Given the description of an element on the screen output the (x, y) to click on. 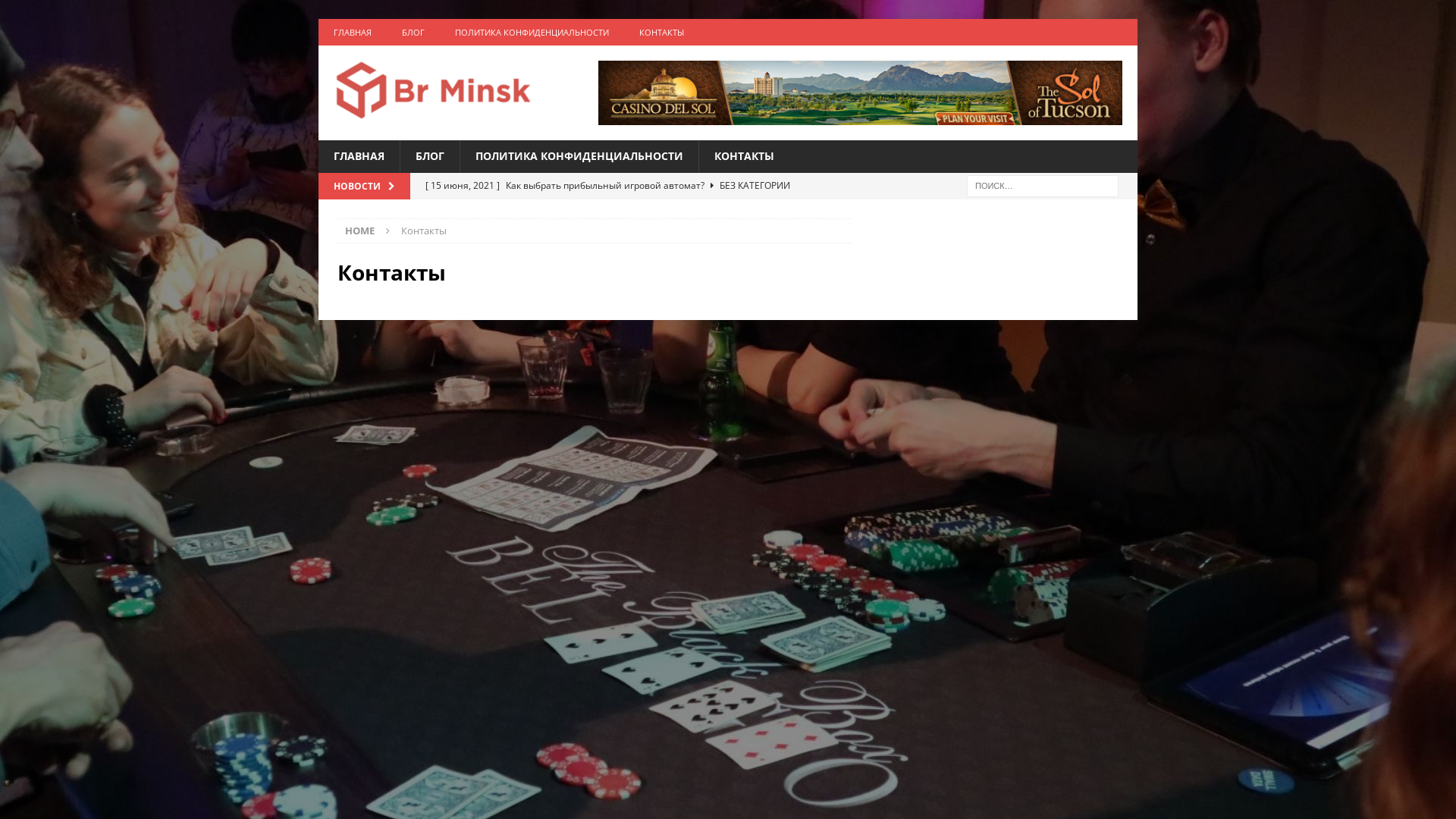
HOME Element type: text (359, 230)
